Given the description of an element on the screen output the (x, y) to click on. 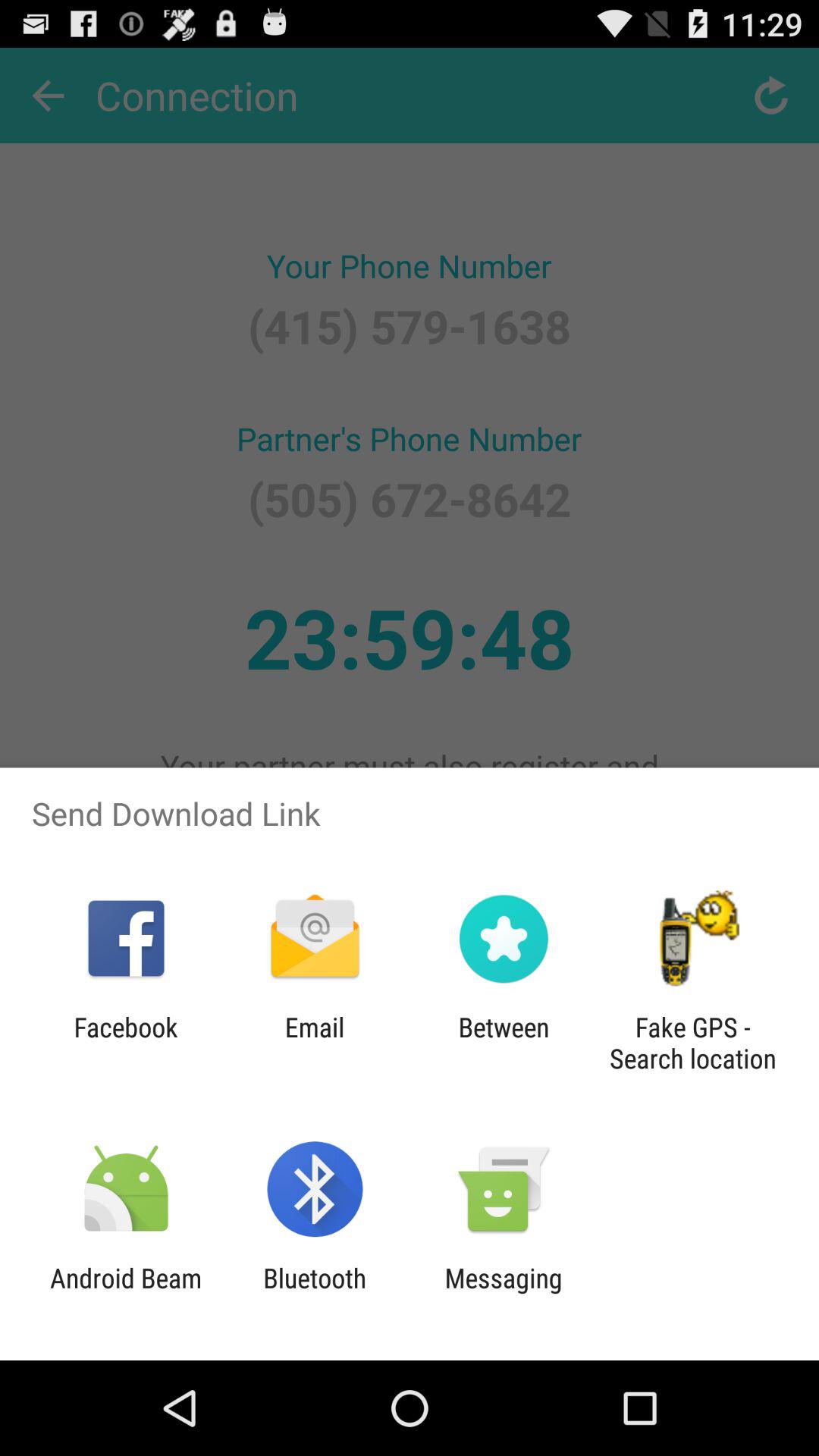
jump to the fake gps search item (692, 1042)
